Given the description of an element on the screen output the (x, y) to click on. 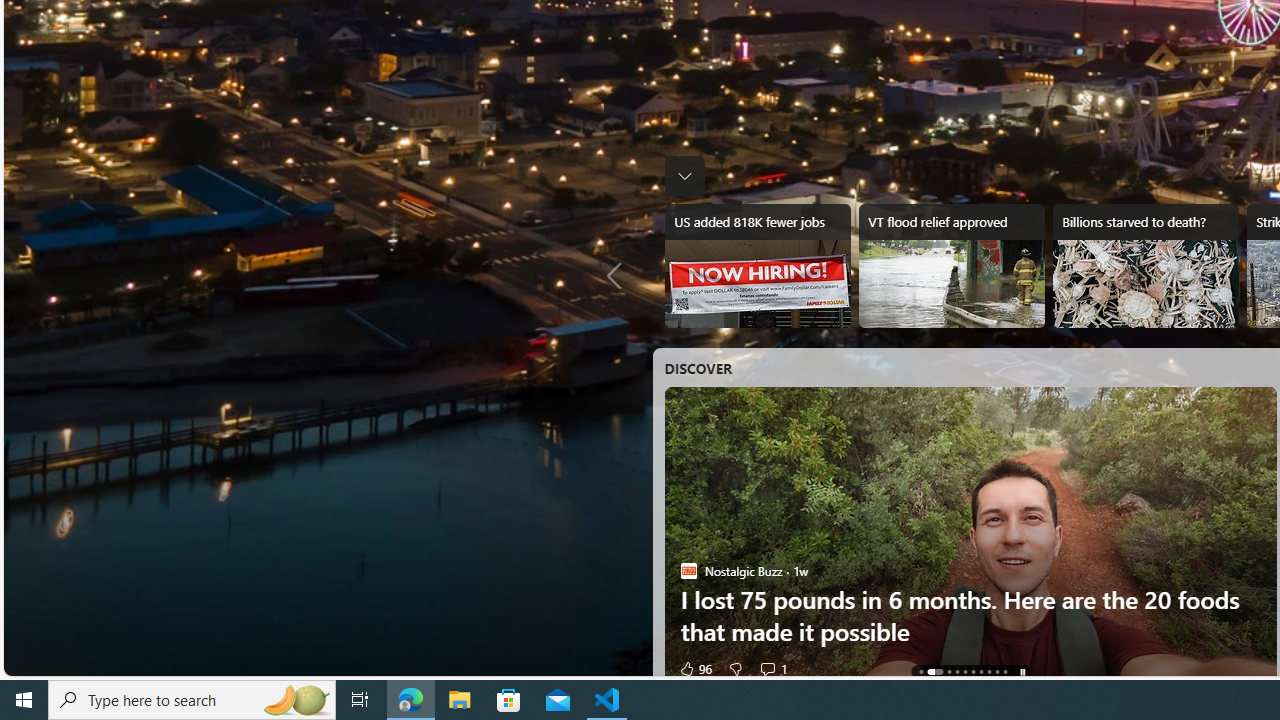
The taskbar was expanded. Press to collapse taskbar (684, 175)
AutomationID: tab-7 (989, 671)
AutomationID: tab-1 (934, 671)
AutomationID: tab-5 (972, 671)
AutomationID: tab-3 (957, 671)
AutomationID: tab-2 (948, 671)
Billions starved to death? (1145, 265)
